Given the description of an element on the screen output the (x, y) to click on. 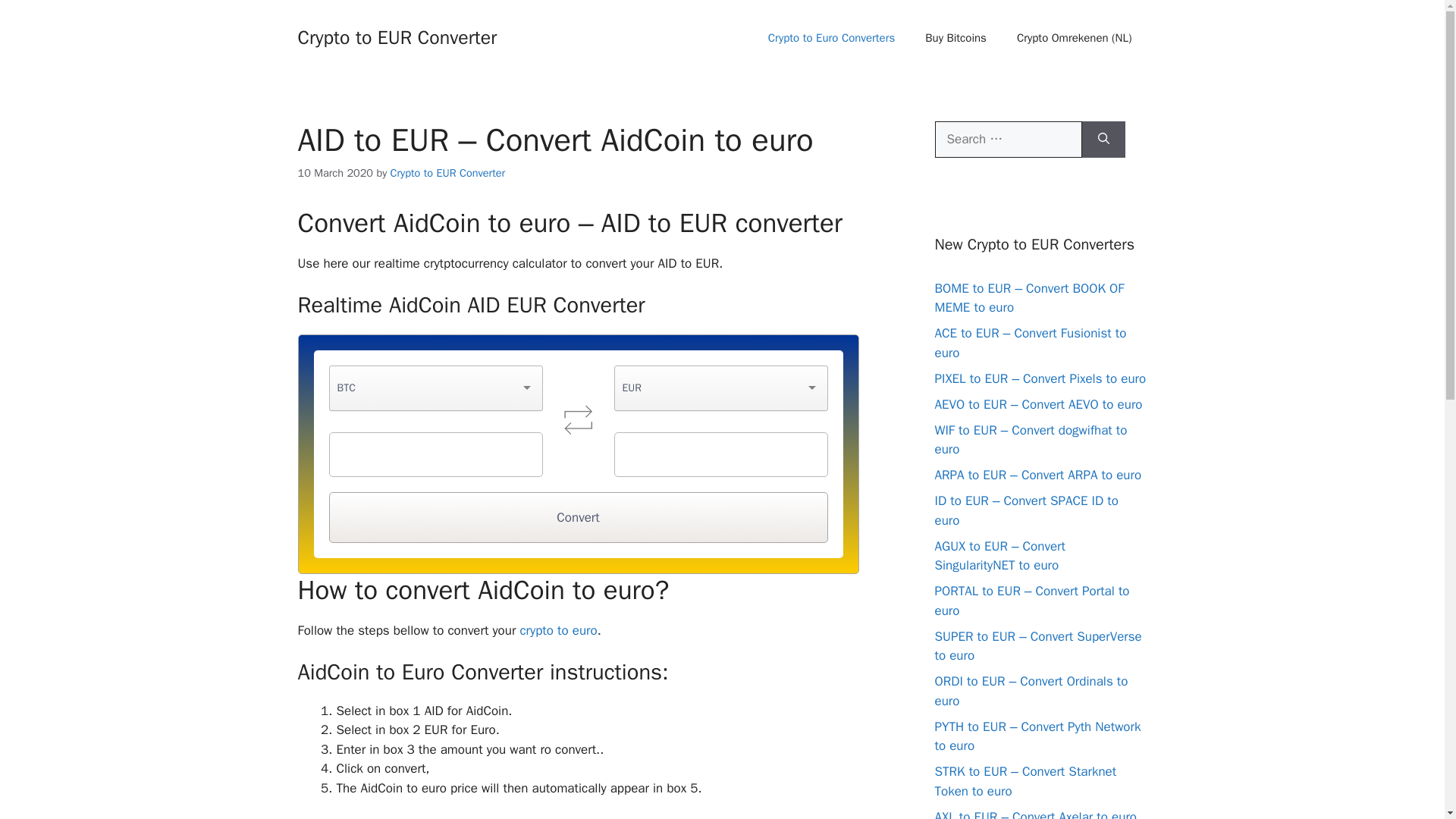
View all posts by Crypto to EUR Converter (447, 172)
AID to EUR - Convert AidCoin to euro (577, 418)
Search for: (1007, 139)
Convert (578, 517)
Buy Bitcoins (955, 37)
crypto to euro (557, 630)
Crypto to Euro Converters (831, 37)
Crypto to EUR Converter (396, 37)
Crypto to EUR Converter (447, 172)
